Given the description of an element on the screen output the (x, y) to click on. 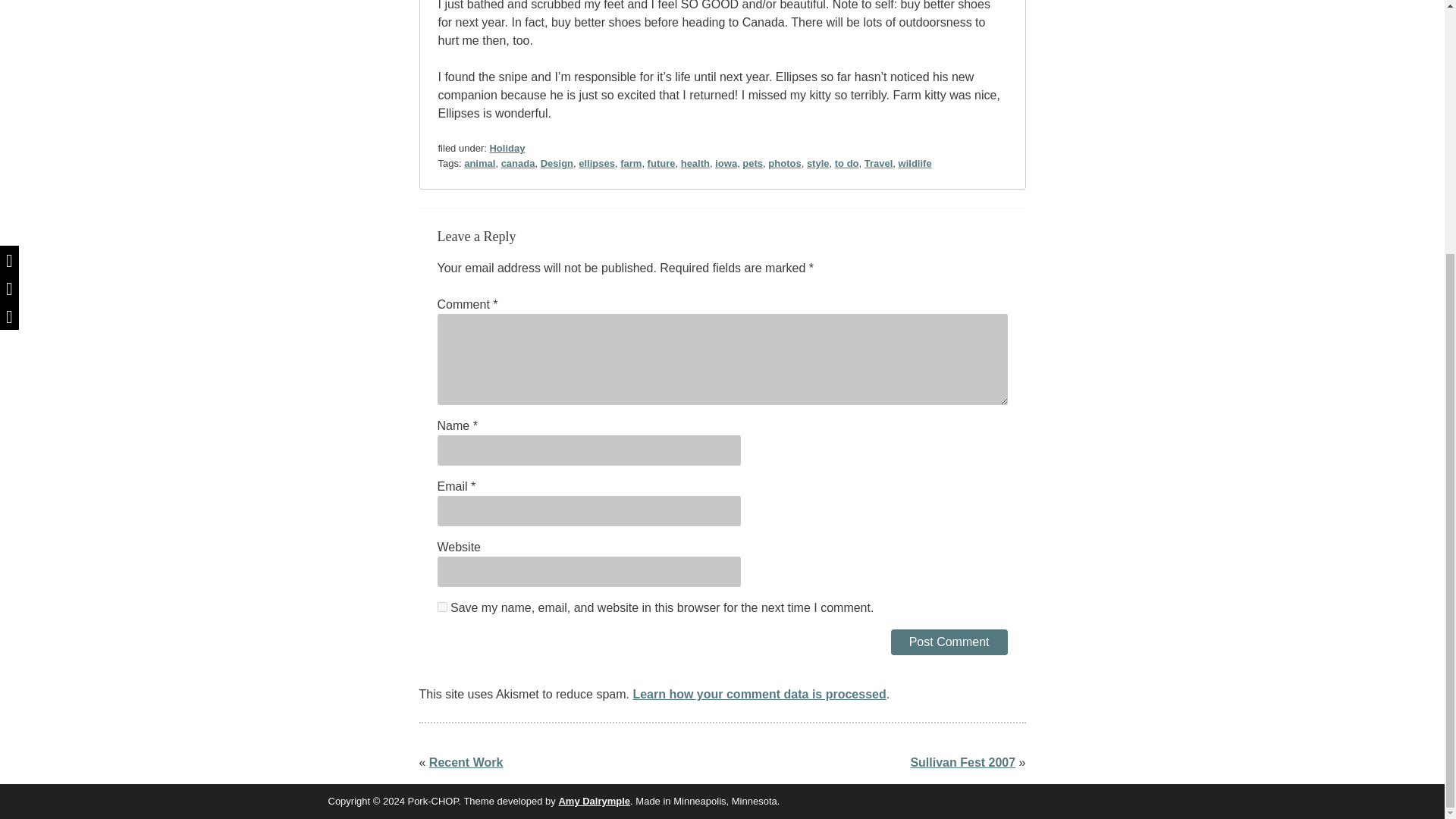
Sullivan Fest 2007 (962, 762)
Post Comment (949, 642)
canada (517, 163)
Holiday (506, 147)
Post Comment (949, 642)
animal (479, 163)
health (695, 163)
Travel (878, 163)
Design (556, 163)
ellipses (596, 163)
yes (441, 606)
Learn how your comment data is processed (758, 694)
Recent Work (466, 762)
wildlife (914, 163)
photos (784, 163)
